Given the description of an element on the screen output the (x, y) to click on. 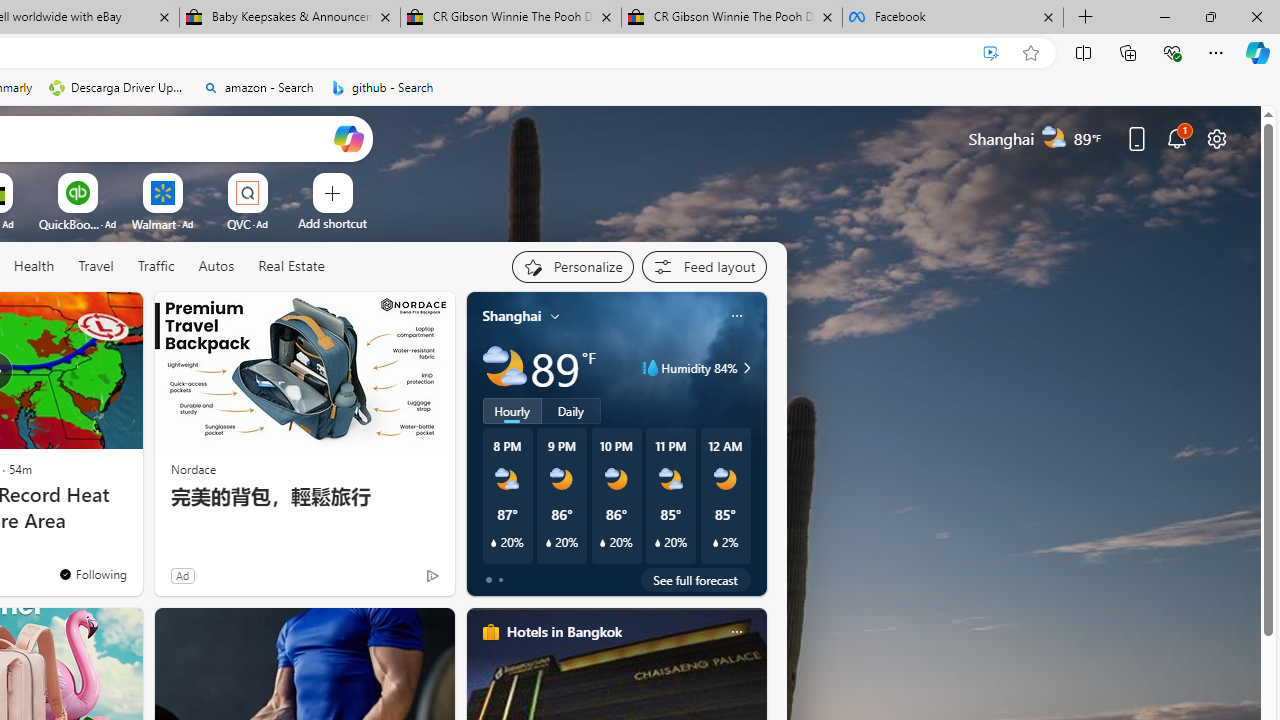
Real Estate (290, 267)
More Options (279, 179)
My location (555, 315)
Personalize your feed" (571, 266)
hotels-header-icon (490, 632)
You're following The Weather Channel (92, 573)
github - Search (381, 88)
